Given the description of an element on the screen output the (x, y) to click on. 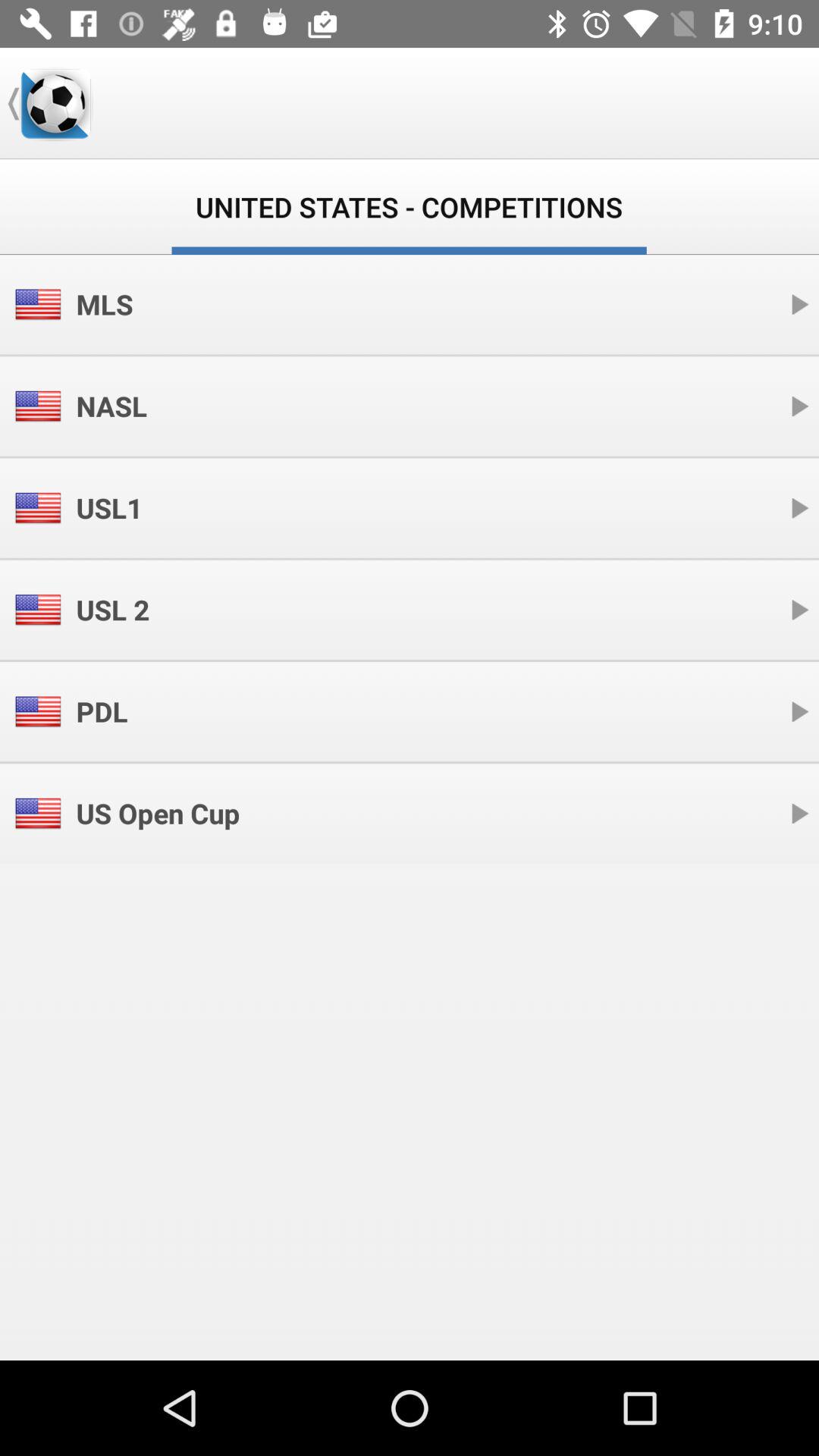
flip until nasl item (111, 406)
